Given the description of an element on the screen output the (x, y) to click on. 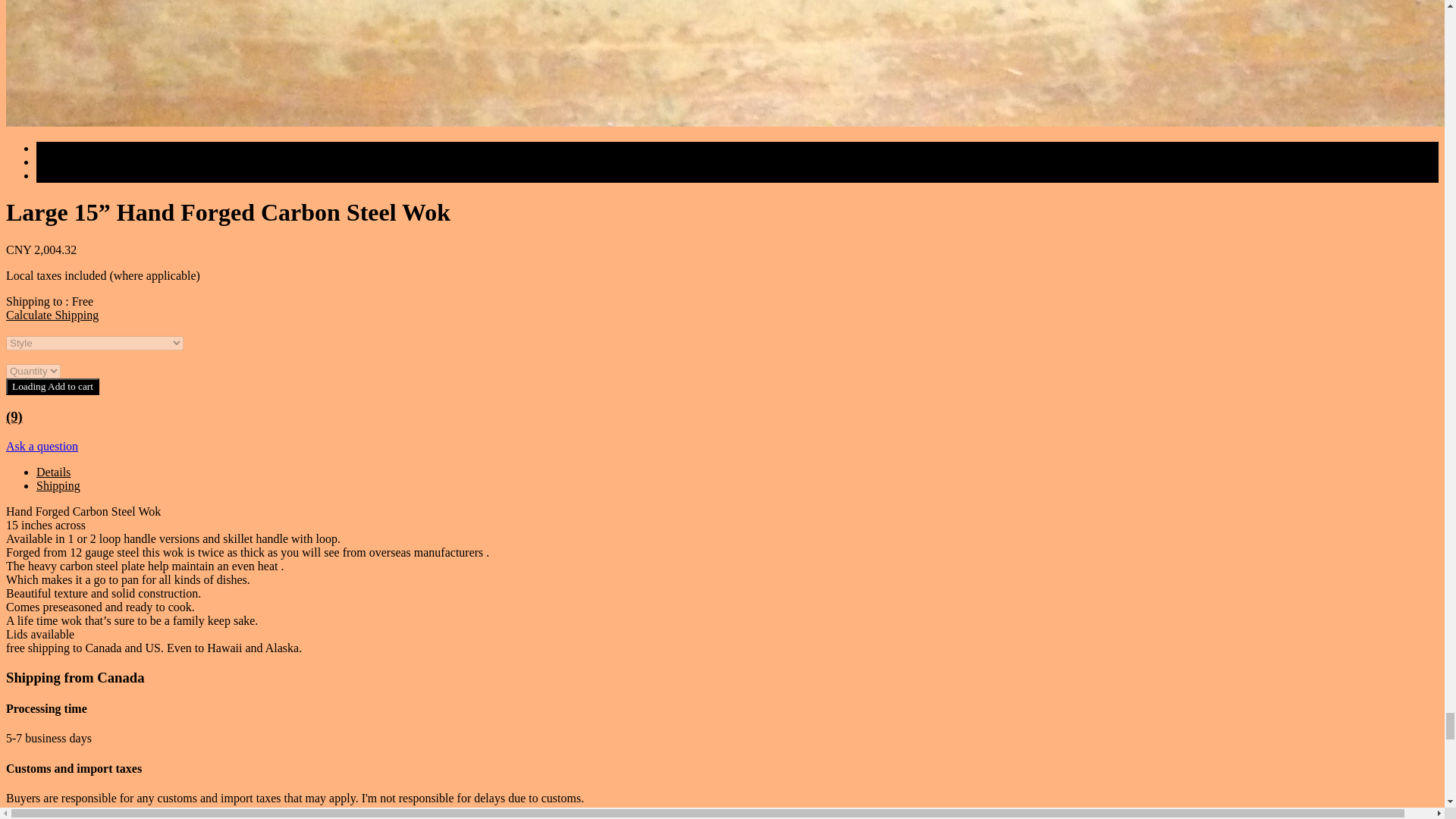
Details (52, 472)
Calculate Shipping (52, 314)
Ask a question (41, 445)
Shipping (58, 485)
Loading Add to cart (52, 386)
